Given the description of an element on the screen output the (x, y) to click on. 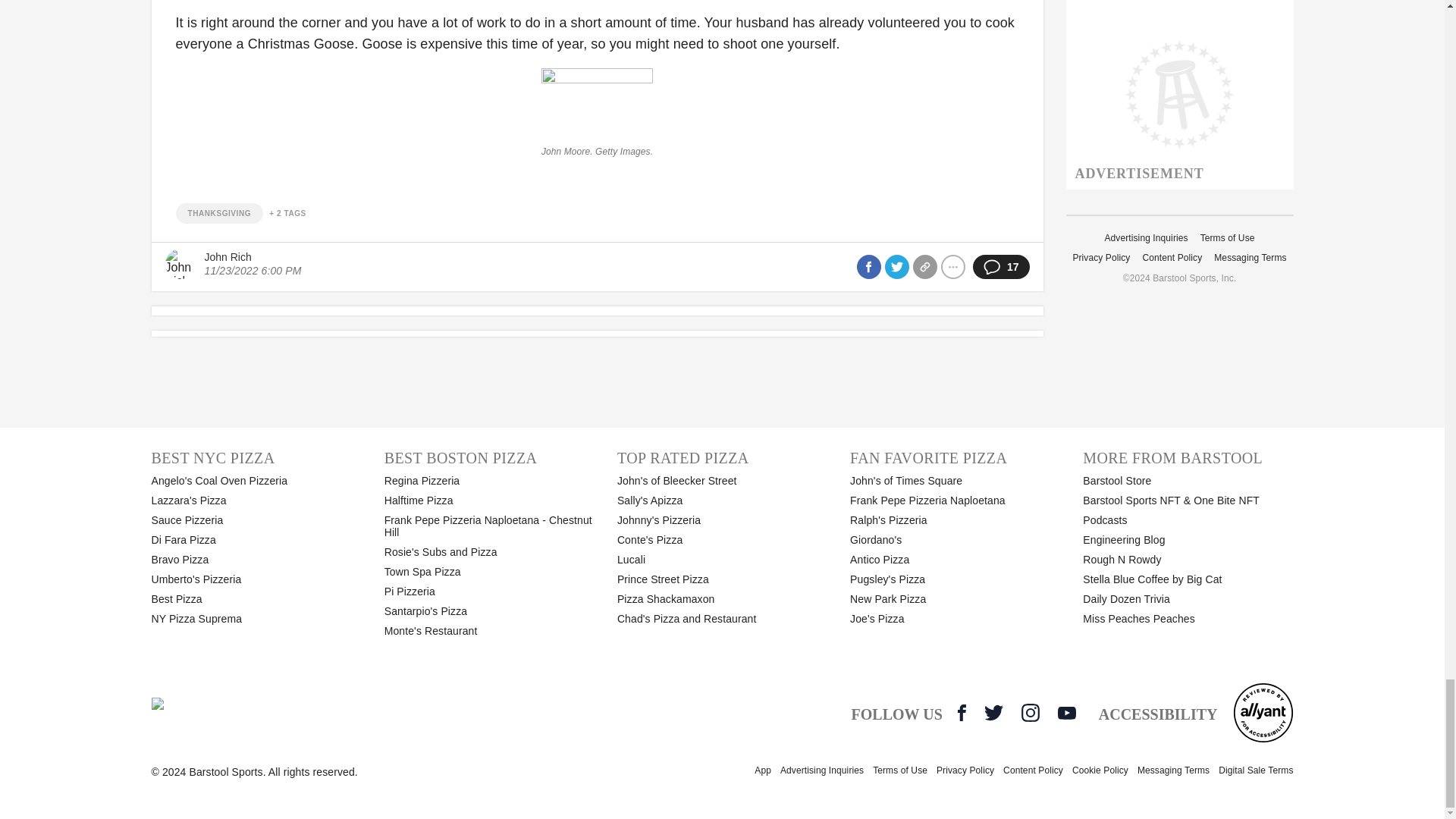
Twitter Icon (993, 712)
Instagram Icon (1030, 712)
YouTube Icon (1066, 712)
Reviewed by Allyant for accessibility (1263, 712)
